Given the description of an element on the screen output the (x, y) to click on. 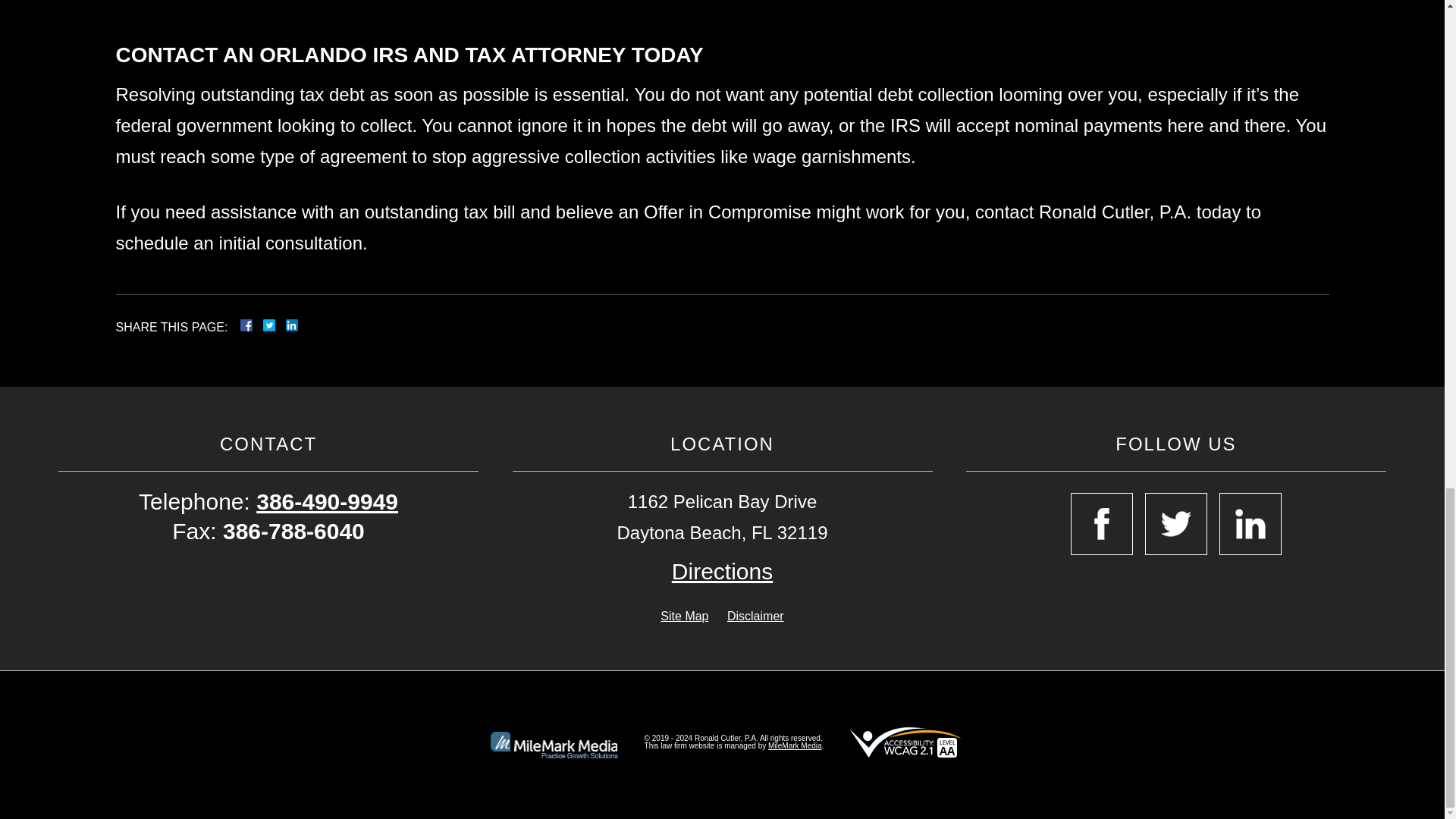
Open Linkedin in a New Window (1250, 524)
Open Twitter in a New Window (1175, 524)
Open MileMarkMedia.com in a New Window (795, 746)
Open Google Map in a New Window (722, 571)
Open Facebook in a New Window (1101, 524)
